Given the description of an element on the screen output the (x, y) to click on. 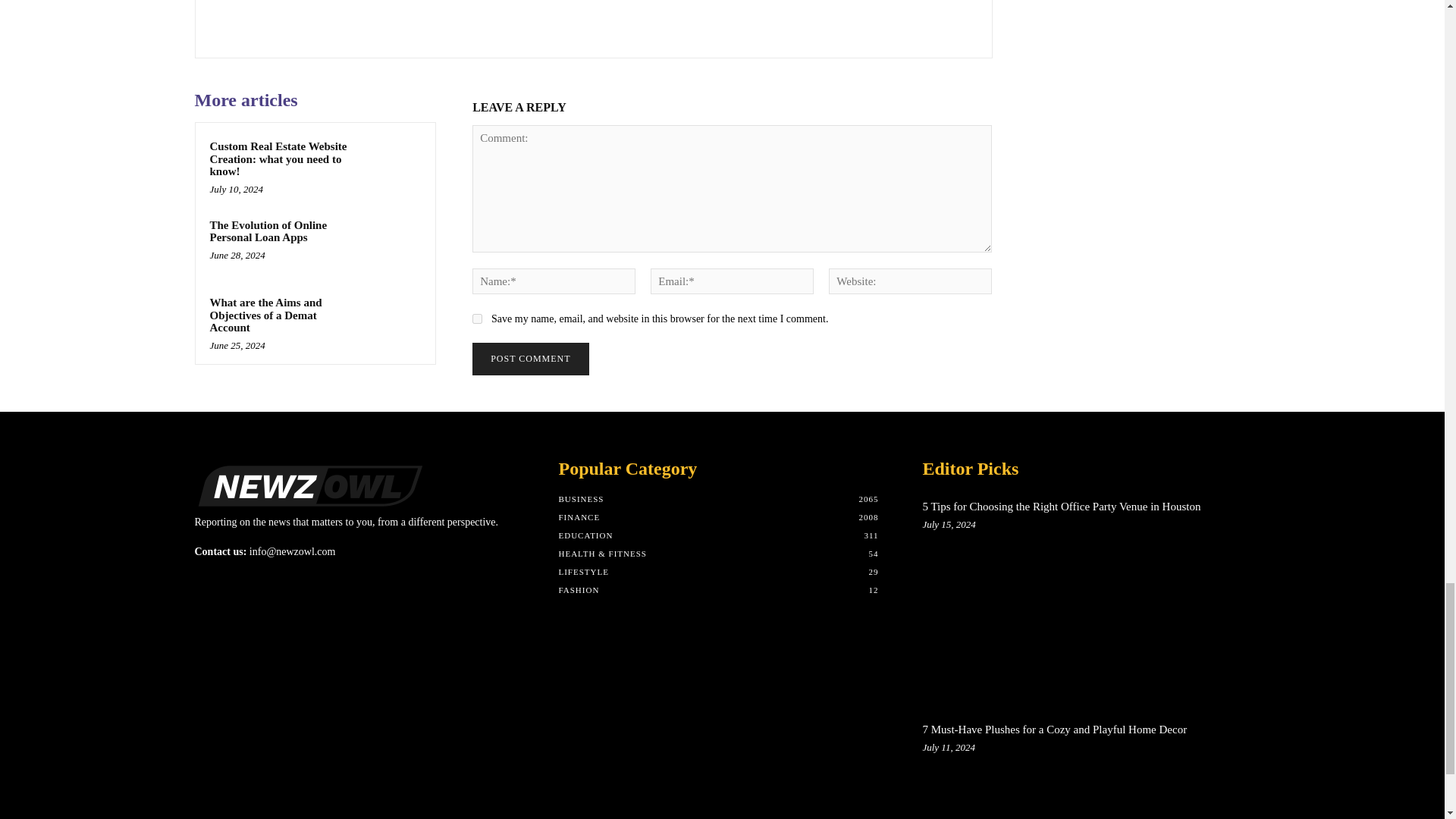
yes (476, 318)
Post Comment (529, 359)
